Given the description of an element on the screen output the (x, y) to click on. 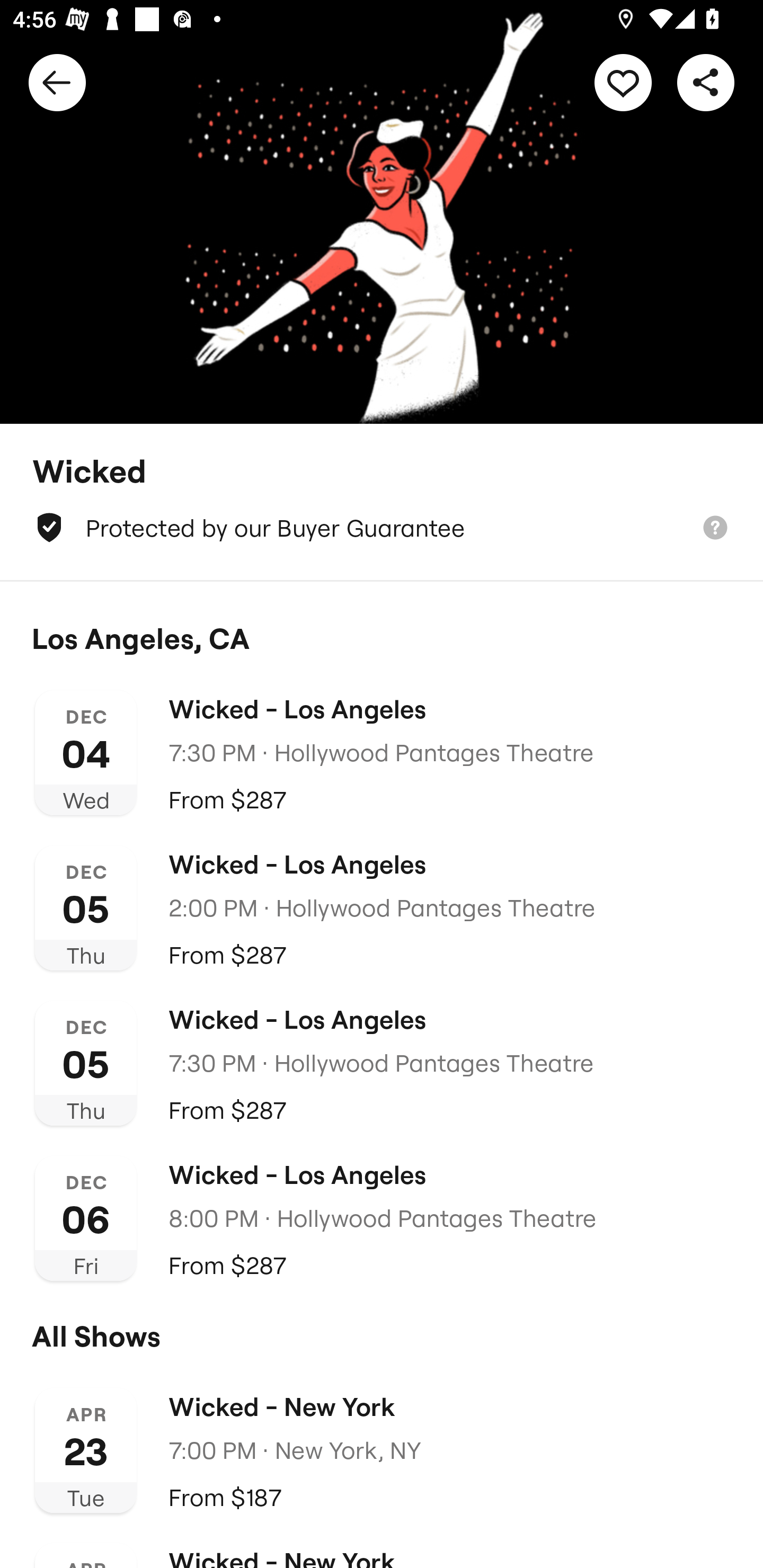
Back (57, 81)
Track this performer (623, 81)
Share this performer (705, 81)
Protected by our Buyer Guarantee Learn more (381, 527)
